Given the description of an element on the screen output the (x, y) to click on. 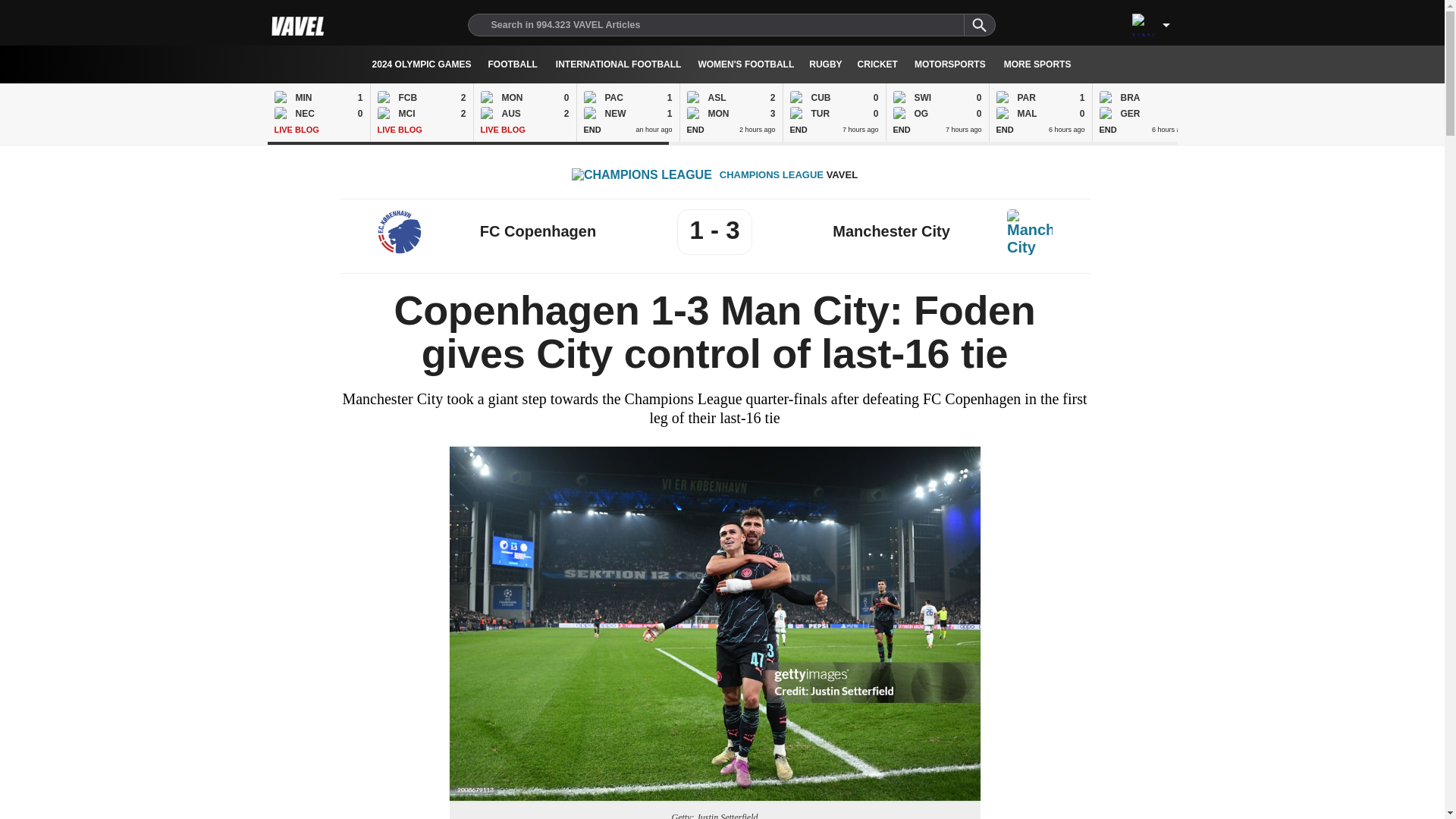
FOOTBALL (317, 112)
WOMEN'S FOOTBALL (1349, 112)
2024 OLYMPIC GAMES (1246, 112)
INTERNATIONAL FOOTBALL (512, 63)
MORE SPORTS (745, 63)
RUGBY (421, 63)
